Given the description of an element on the screen output the (x, y) to click on. 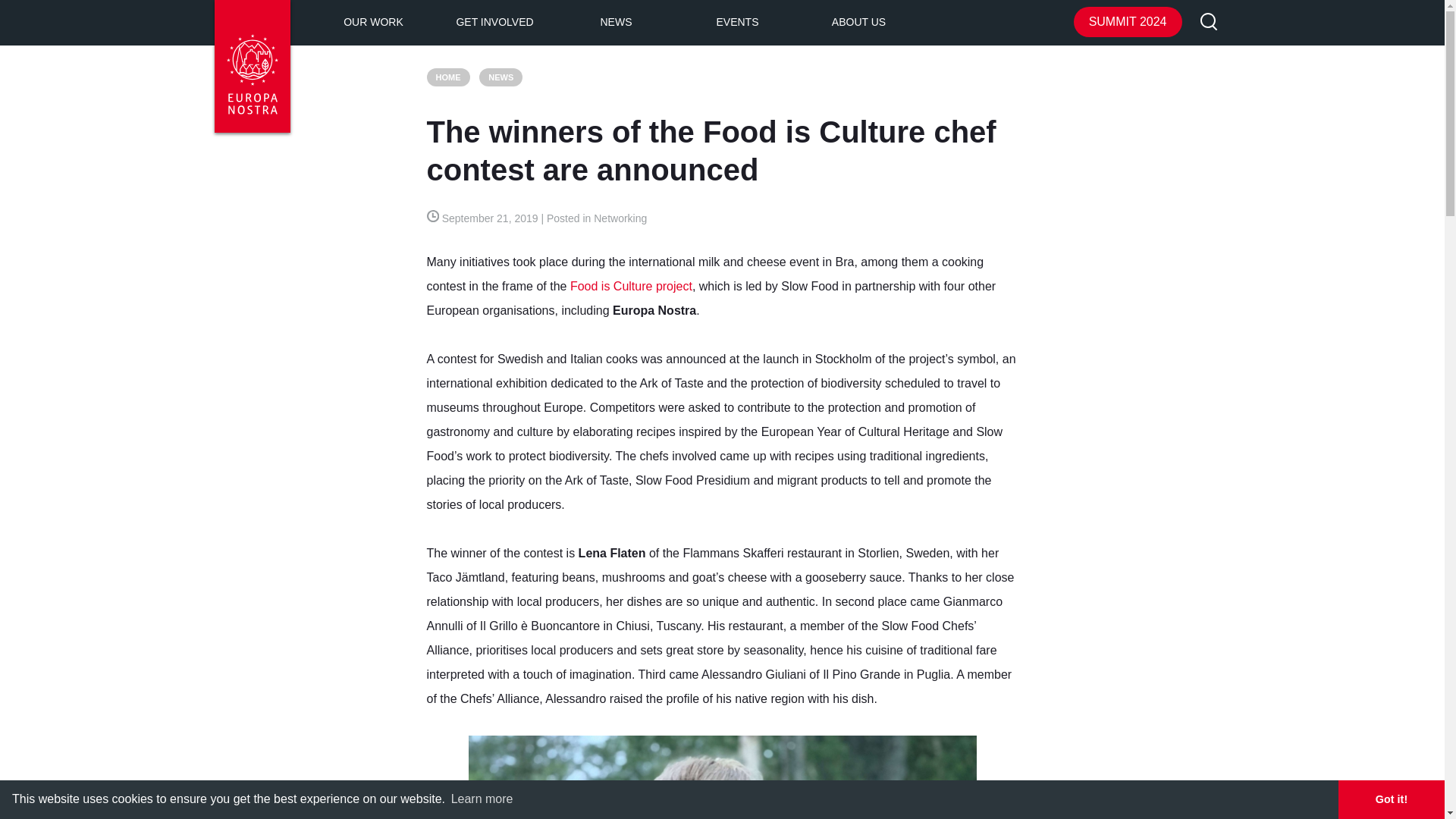
ABOUT US (857, 22)
NEWS (615, 22)
OUR WORK (373, 22)
Home (447, 76)
GET INVOLVED (493, 22)
seach (1209, 22)
EVENTS (737, 22)
Learn more (481, 798)
Posts (500, 76)
